Given the description of an element on the screen output the (x, y) to click on. 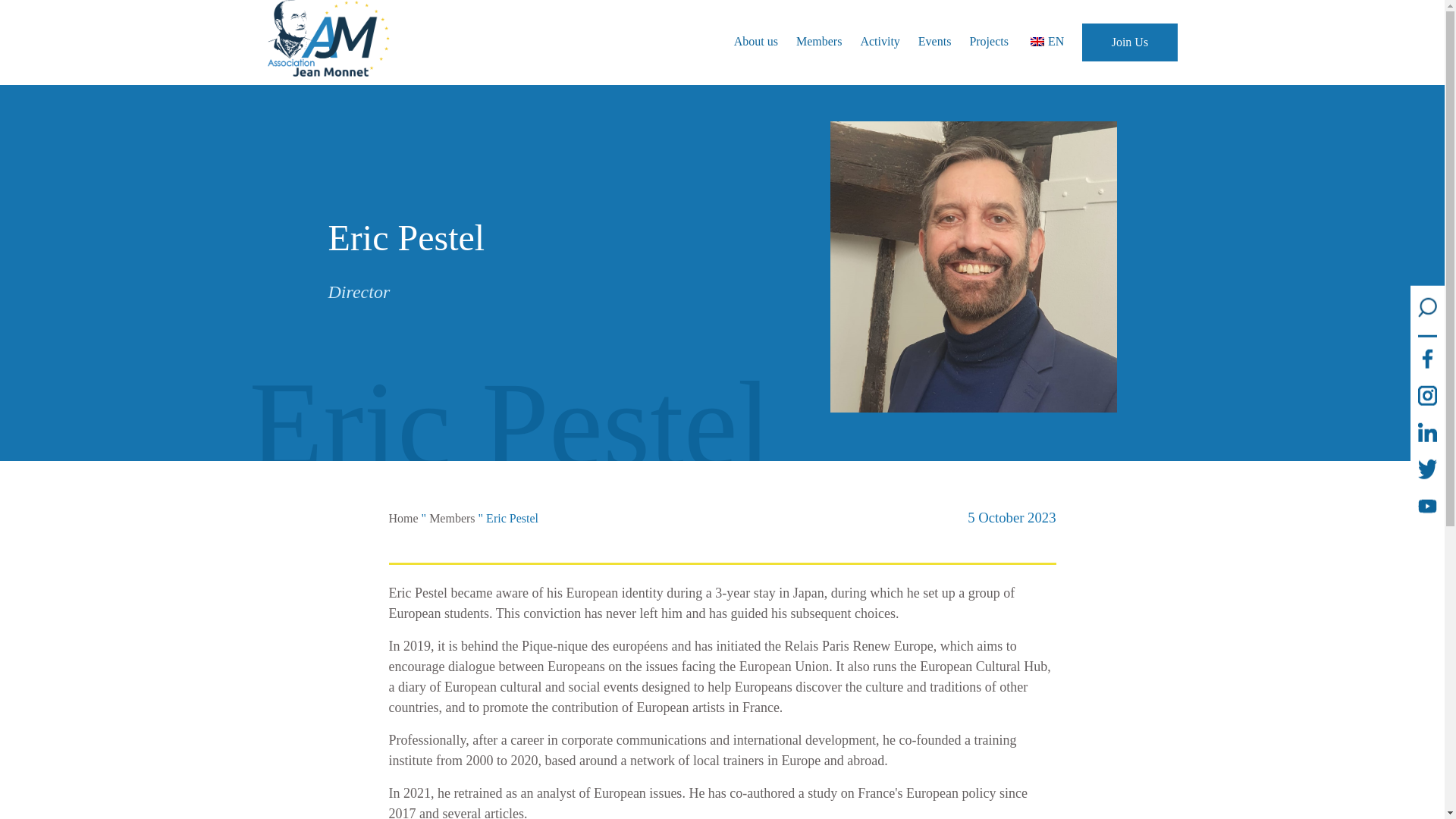
Events (935, 41)
About us (755, 41)
Projects (989, 41)
Members (451, 517)
Activity (879, 41)
English (1036, 40)
EN (1045, 41)
Home (402, 517)
Members (818, 41)
Join Us (1128, 42)
